Given the description of an element on the screen output the (x, y) to click on. 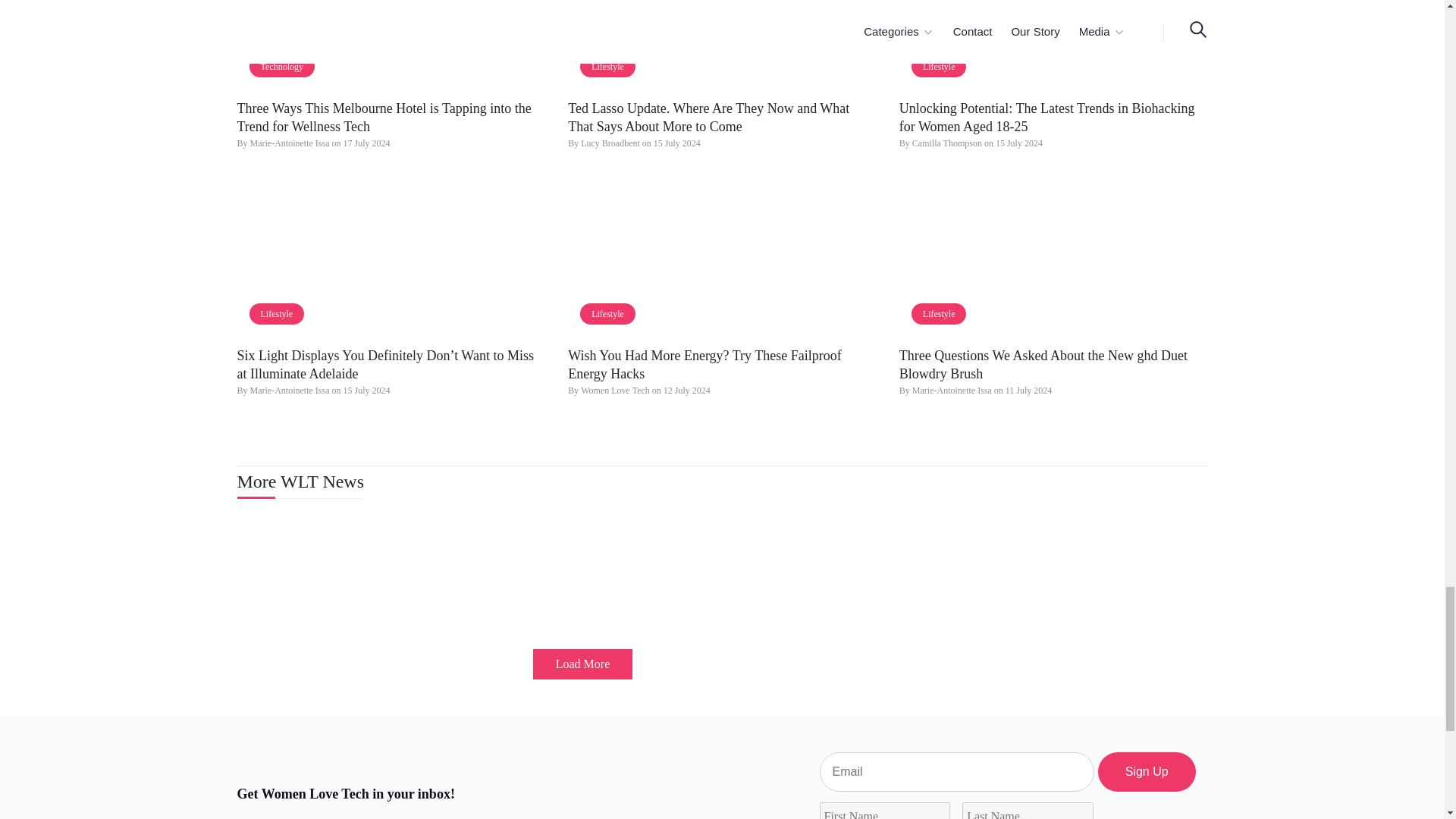
WP-featured-image-template-2024-07-15T182049.294 (1053, 46)
Ted Lasso (721, 46)
Sign Up (1146, 771)
WLTXTemplate (721, 255)
